Given the description of an element on the screen output the (x, y) to click on. 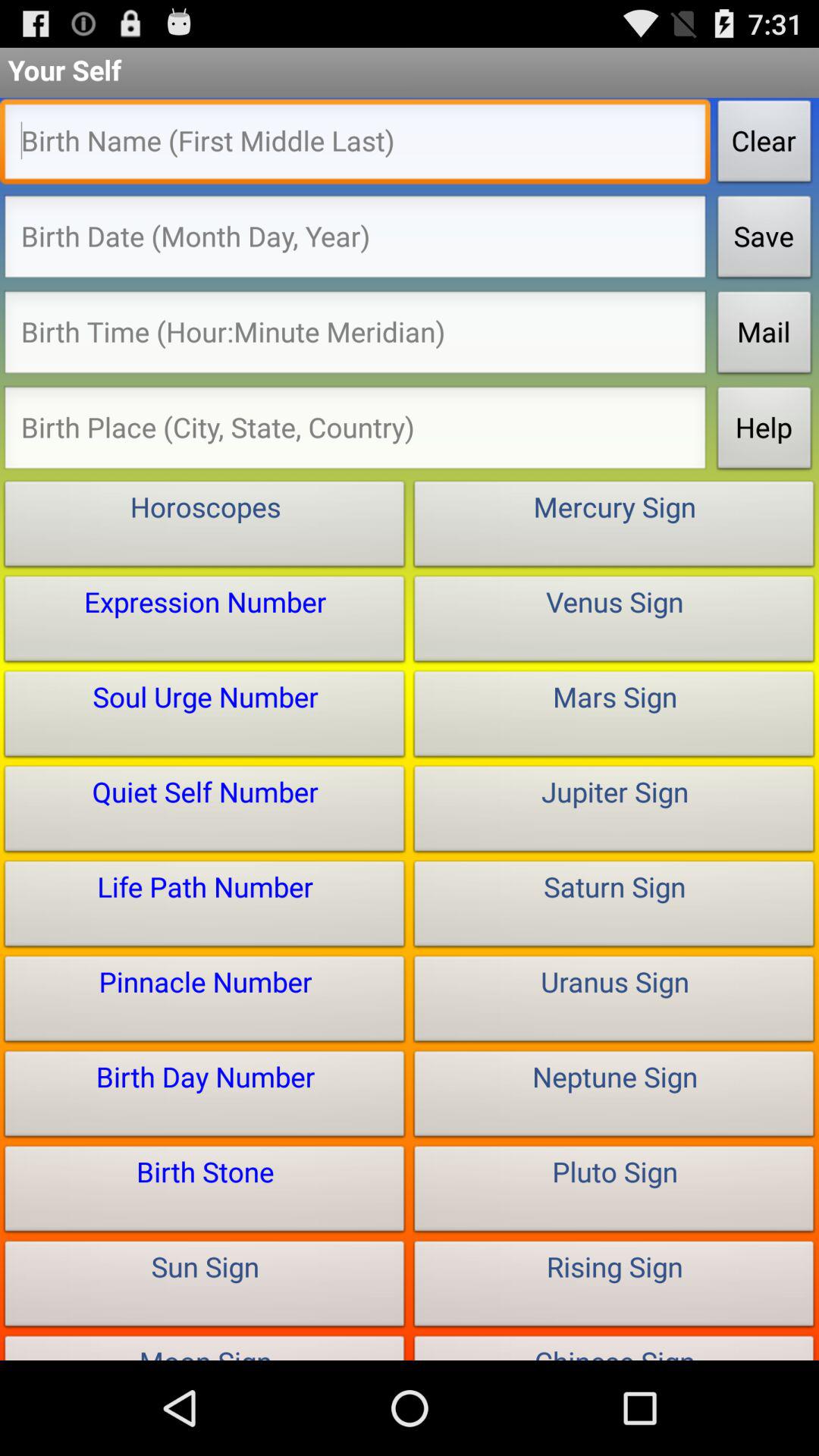
type in full birth name (355, 145)
